Given the description of an element on the screen output the (x, y) to click on. 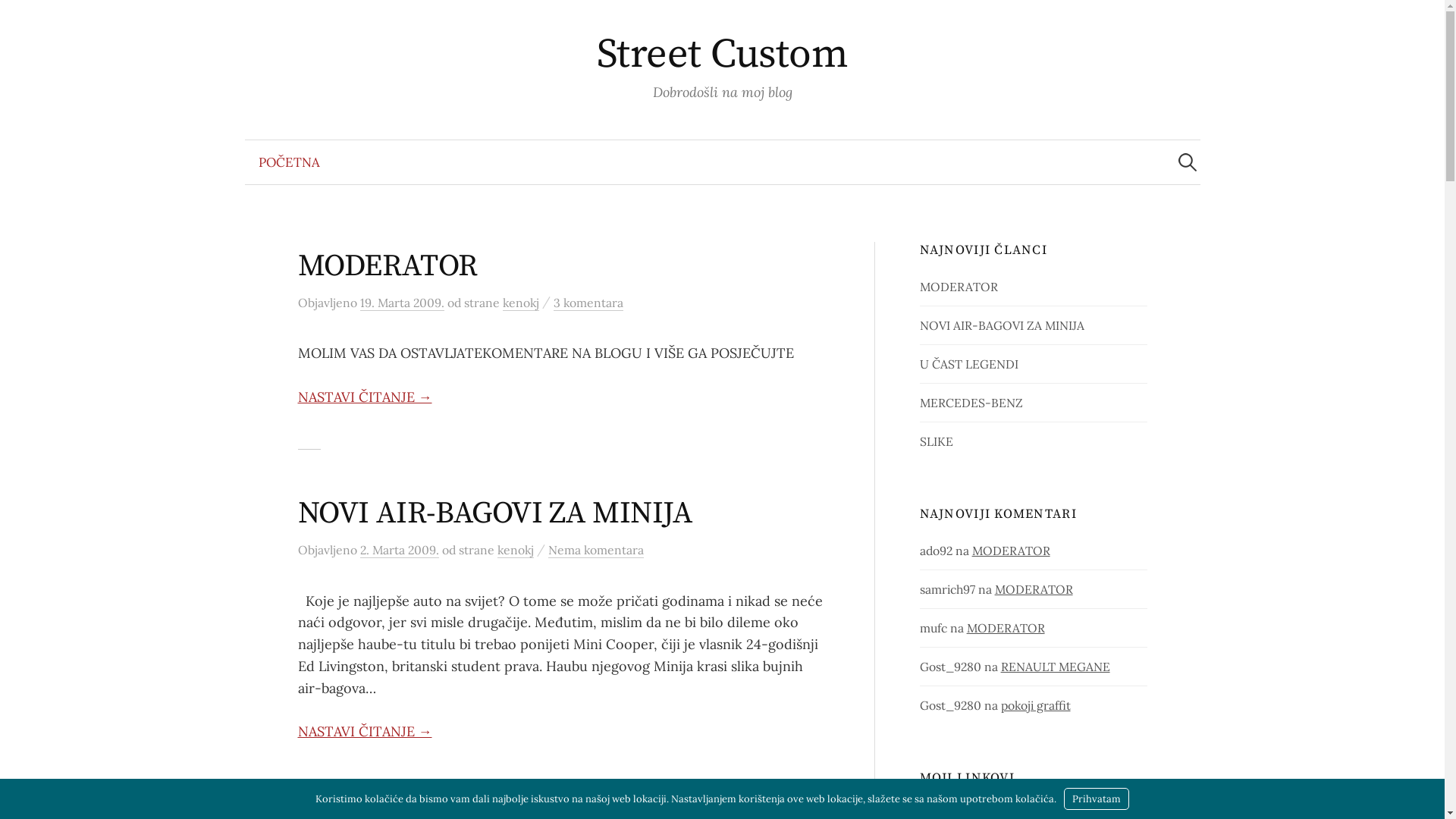
MERCEDES-BENZ Element type: text (970, 402)
Street Custom Element type: text (721, 54)
MODERATOR Element type: text (1033, 588)
kenokj Element type: text (520, 302)
2. Marta 2009. Element type: text (398, 550)
Prihvatam Element type: text (1096, 798)
RENAULT MEGANE Element type: text (1055, 666)
3 komentara
za MODERATOR Element type: text (588, 302)
Blogger.ba Element type: text (948, 807)
Nema komentara
na NOVI AIR-BAGOVI ZA MINIJA Element type: text (595, 550)
Pretraga Element type: text (18, 18)
MODERATOR Element type: text (386, 266)
kenokj Element type: text (515, 550)
SLIKE Element type: text (936, 440)
NOVI AIR-BAGOVI ZA MINIJA Element type: text (494, 513)
MODERATOR Element type: text (1011, 550)
NOVI AIR-BAGOVI ZA MINIJA Element type: text (1001, 324)
19. Marta 2009. Element type: text (401, 302)
MODERATOR Element type: text (1005, 627)
MODERATOR Element type: text (958, 286)
pokoji graffit Element type: text (1035, 704)
